Given the description of an element on the screen output the (x, y) to click on. 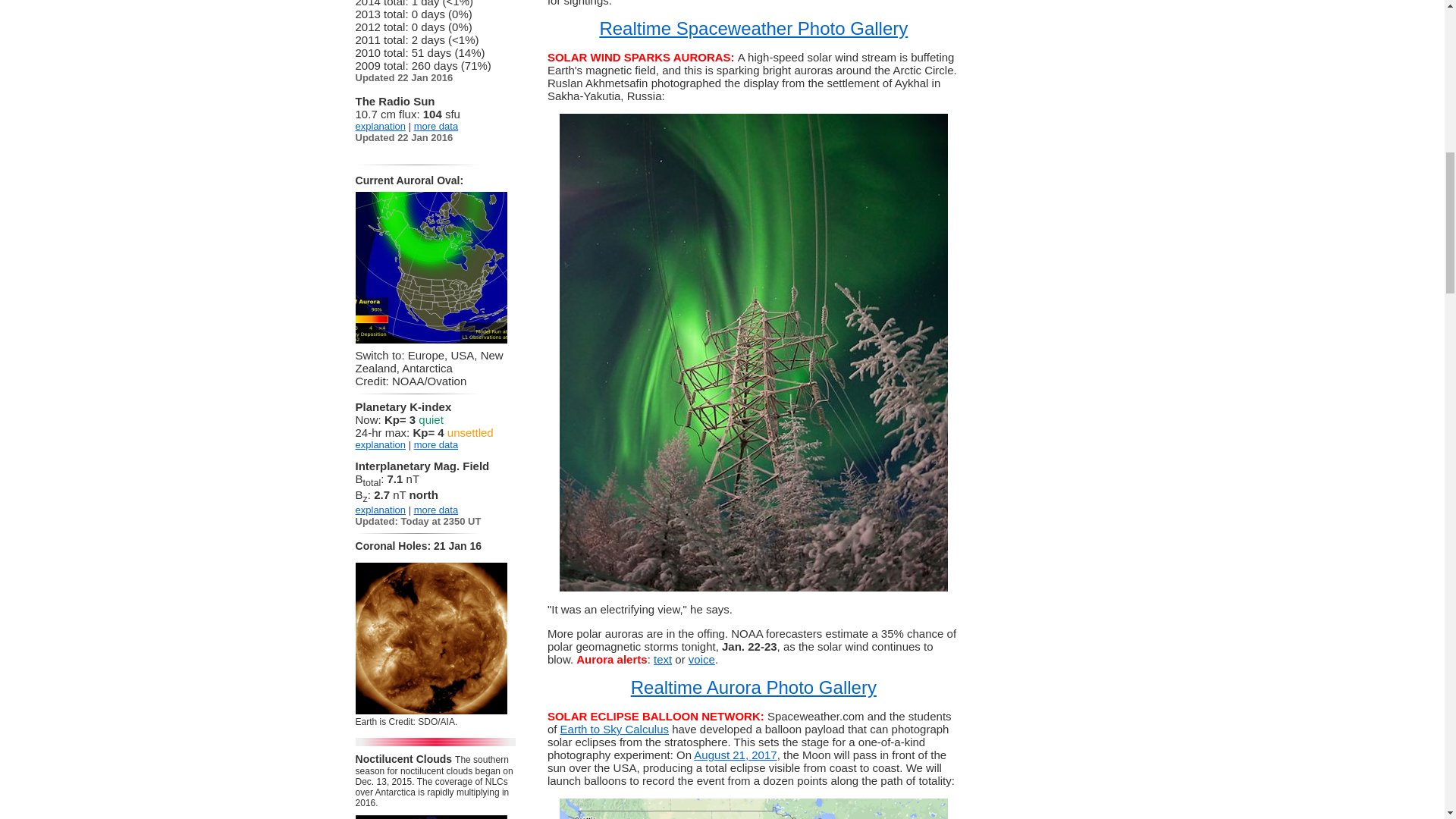
more data (435, 444)
Antarctica (426, 367)
more data (435, 125)
New Zealand (429, 361)
more data (435, 509)
Europe (425, 354)
USA (461, 354)
explanation (380, 125)
explanation (380, 509)
explanation (380, 444)
